Given the description of an element on the screen output the (x, y) to click on. 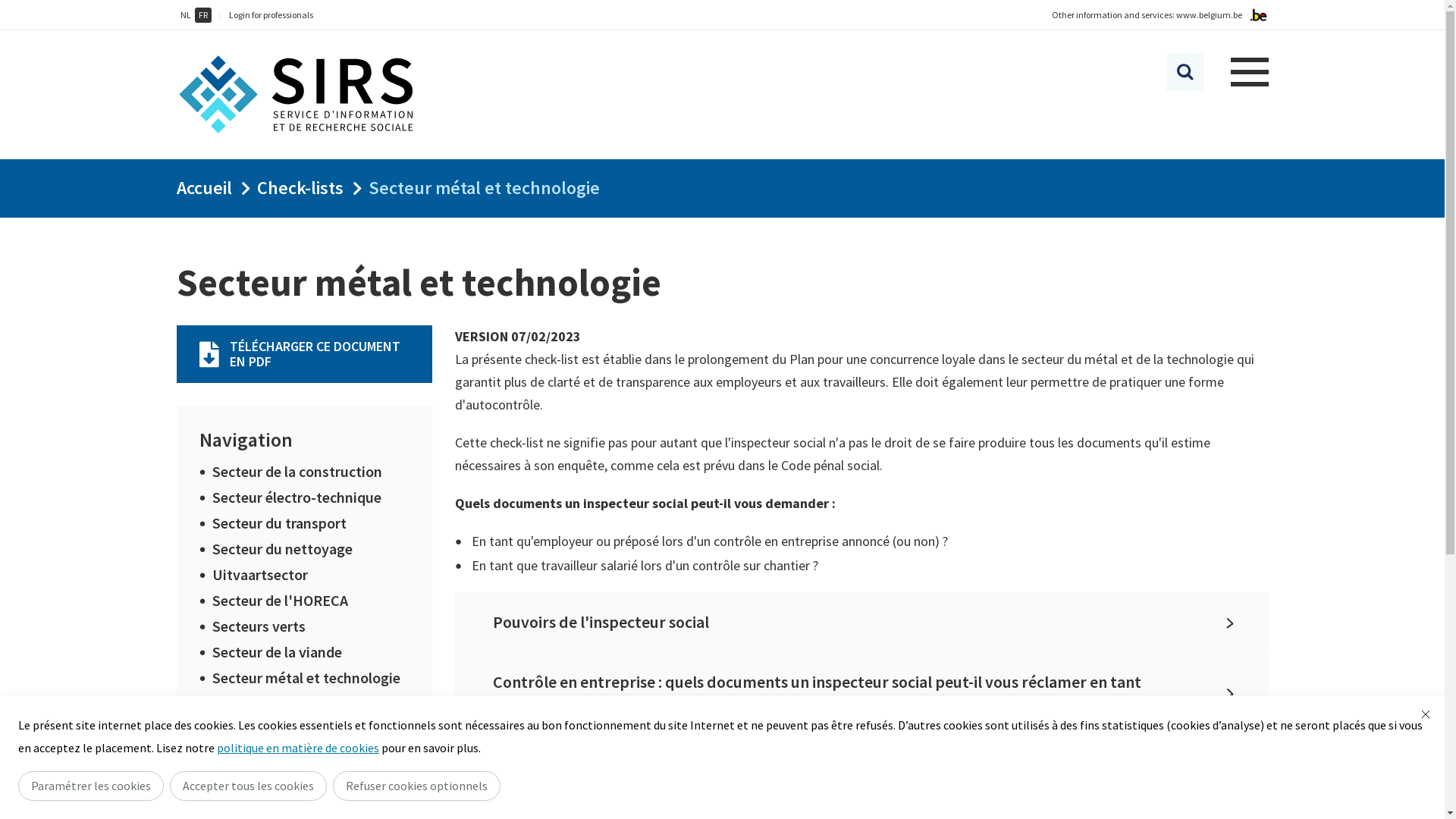
Secteur du transport Element type: text (279, 522)
Menu Element type: text (1248, 72)
Refuser cookies optionnels Element type: text (416, 785)
Secteur de l'HORECA Element type: text (280, 599)
Secteur des garages et carrosserie Element type: text (285, 715)
Fermer Element type: hover (1425, 714)
Accepter tous les cookies Element type: text (247, 785)
FR Element type: text (202, 14)
Check-lists Element type: text (299, 187)
www.belgium.be Element type: text (1209, 14)
Secteur de la construction Element type: text (297, 470)
Secteur de la viande Element type: text (277, 651)
Aller au contenu principal Element type: text (7, 4)
NL Element type: text (184, 14)
Uitvaartsector Element type: text (259, 573)
Login for professionals Element type: text (271, 14)
Secteur du nettoyage Element type: text (282, 548)
Apply Element type: text (1185, 72)
Secteurs verts Element type: text (258, 625)
Accueil Element type: text (203, 187)
Secteur des carwashes Element type: text (285, 754)
Pouvoirs de l'inspecteur social Element type: text (861, 621)
